Given the description of an element on the screen output the (x, y) to click on. 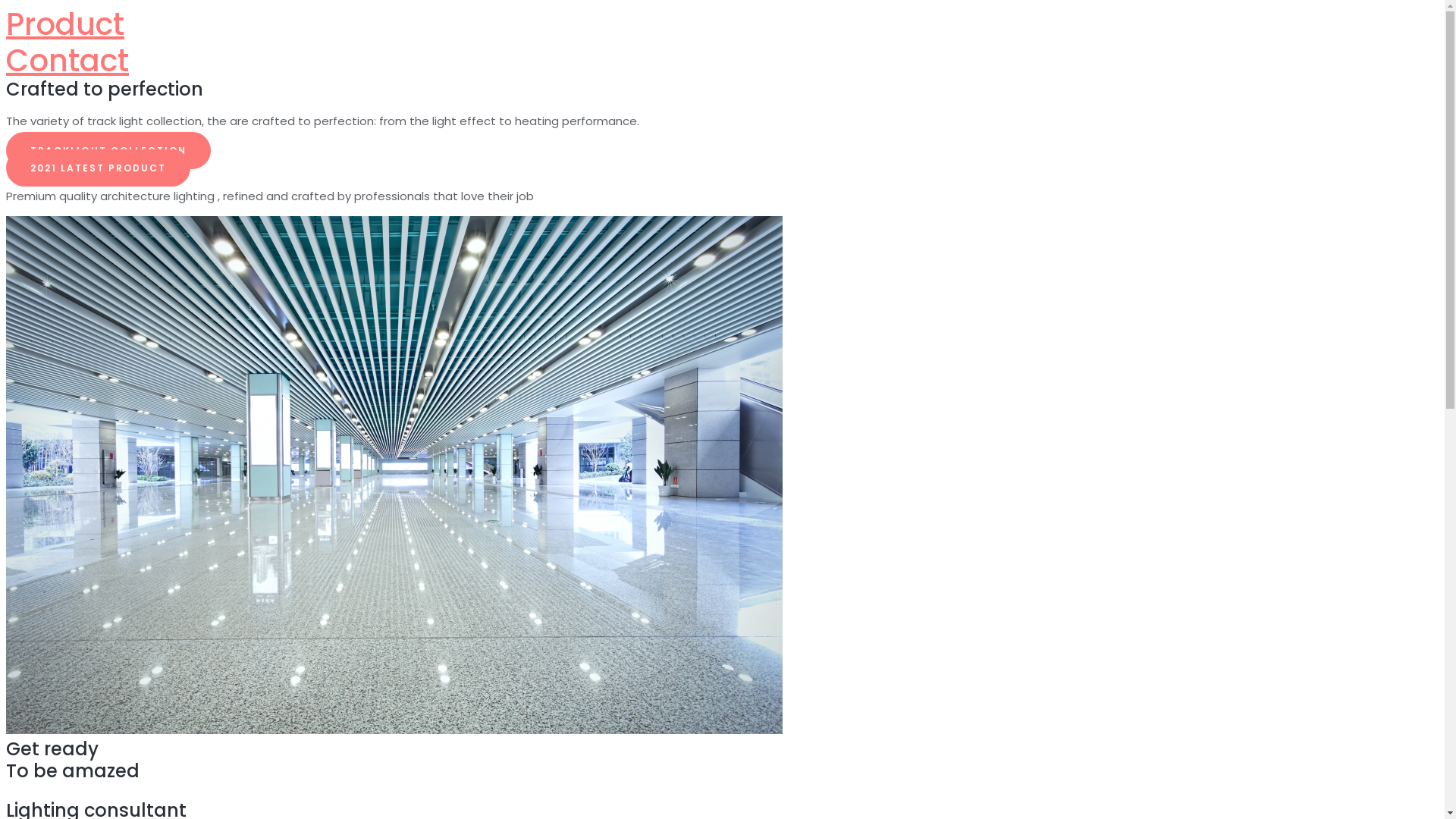
Product Element type: text (65, 24)
TRACKLIGHT COLLECTION Element type: text (108, 150)
2021 LATEST PRODUCT Element type: text (98, 167)
Contact Element type: text (67, 60)
